Given the description of an element on the screen output the (x, y) to click on. 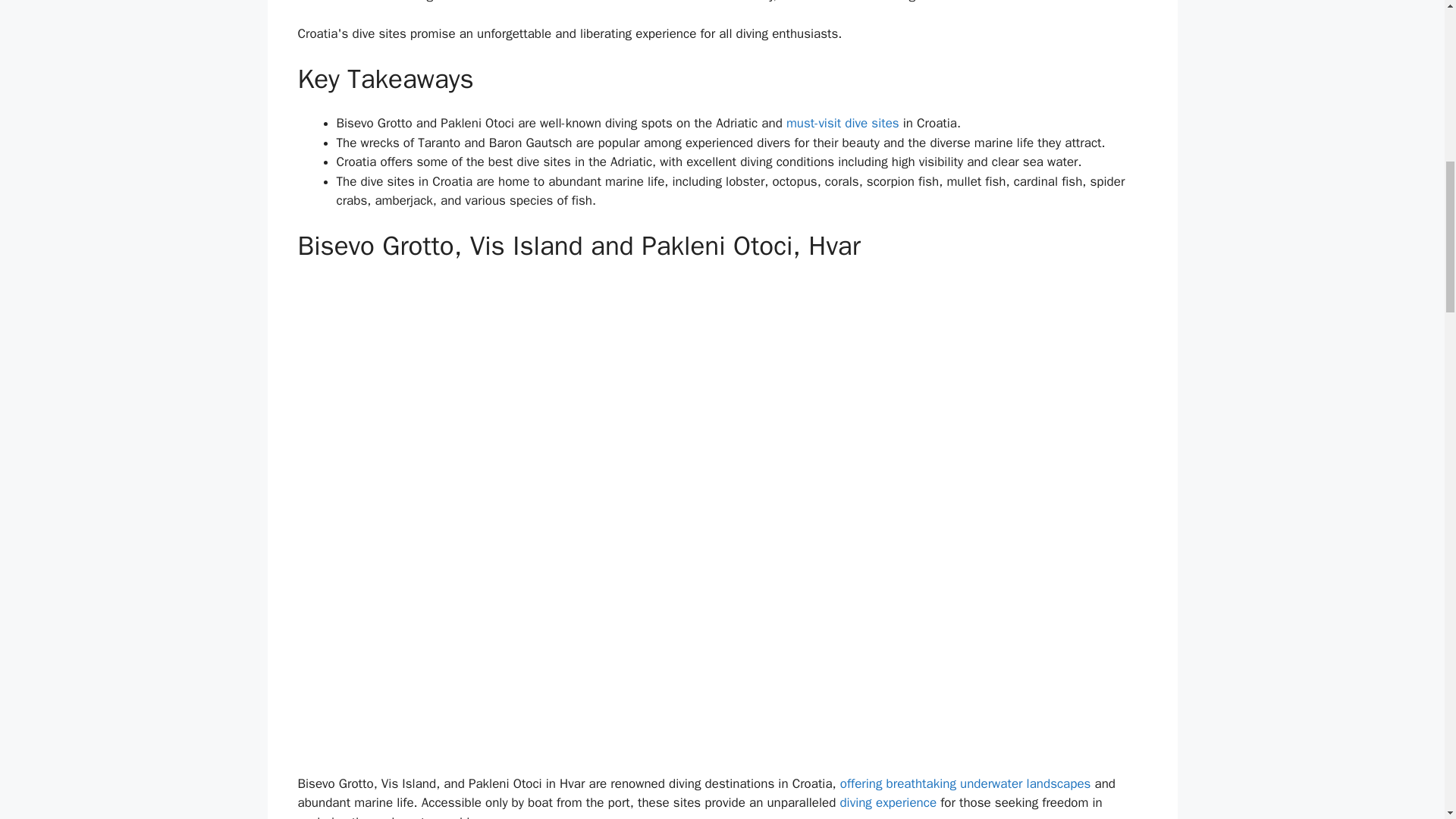
offering breathtaking underwater landscapes (965, 783)
must-visit dive sites (842, 123)
diving experience (888, 802)
Scroll back to top (1406, 720)
